Given the description of an element on the screen output the (x, y) to click on. 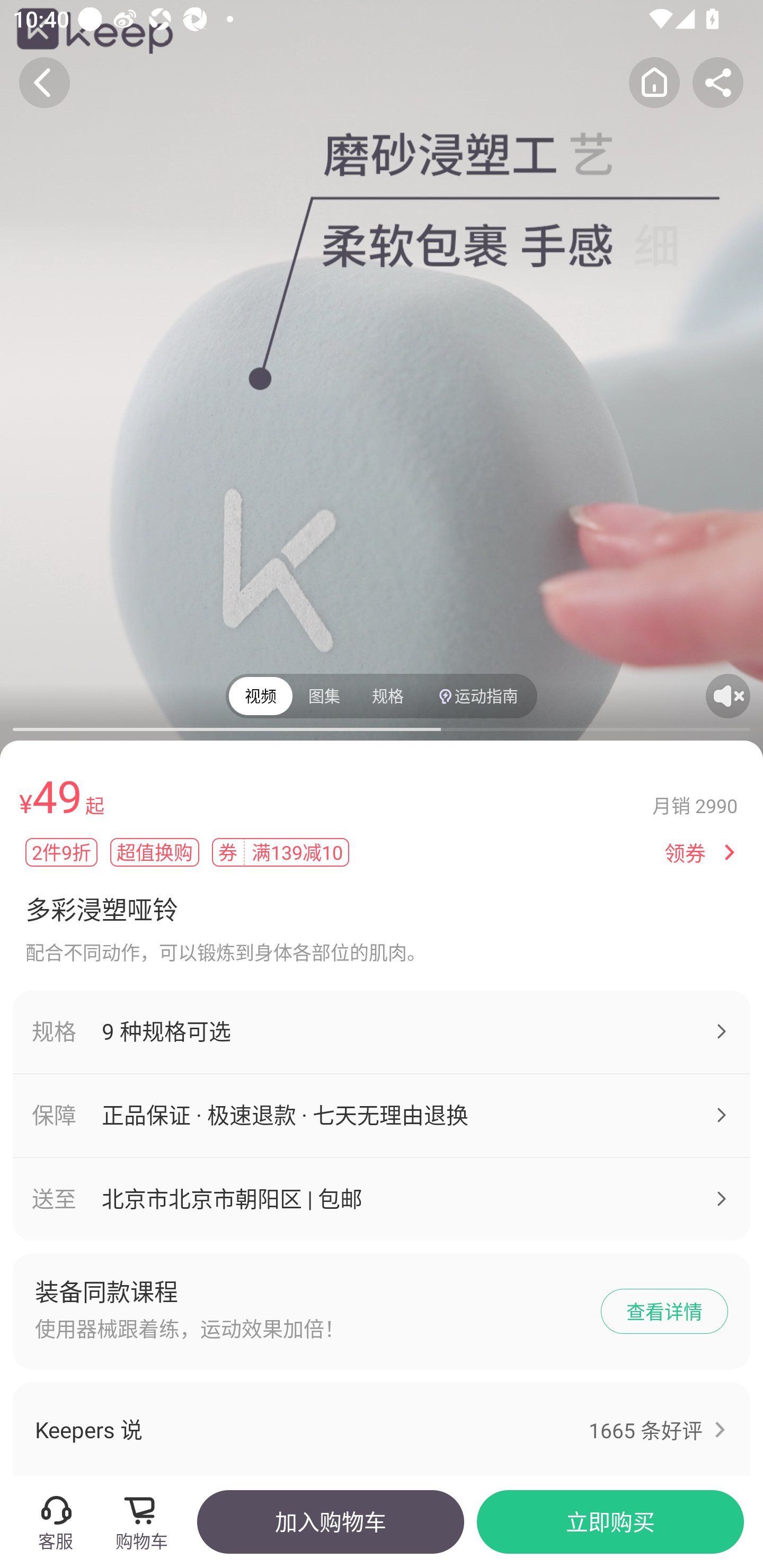
58.0 (381, 381)
视频 (260, 696)
图集 (324, 696)
规格 (387, 696)
运动指南 (476, 696)
2件9折 超值换购 券 满139减10 (338, 852)
领券 (684, 852)
规格 9 种规格可选 (381, 1031)
保障 正品保证 · 极速退款 · 七天无理由退换 (381, 1115)
送至 北京市北京市朝阳区 | 包邮 (381, 1199)
查看详情 (664, 1311)
Keepers 说 (368, 1428)
1665 条好评 (645, 1429)
客服 (55, 1521)
购物车 (147, 1521)
加入购物车 (329, 1521)
立即购买 (609, 1521)
